Given the description of an element on the screen output the (x, y) to click on. 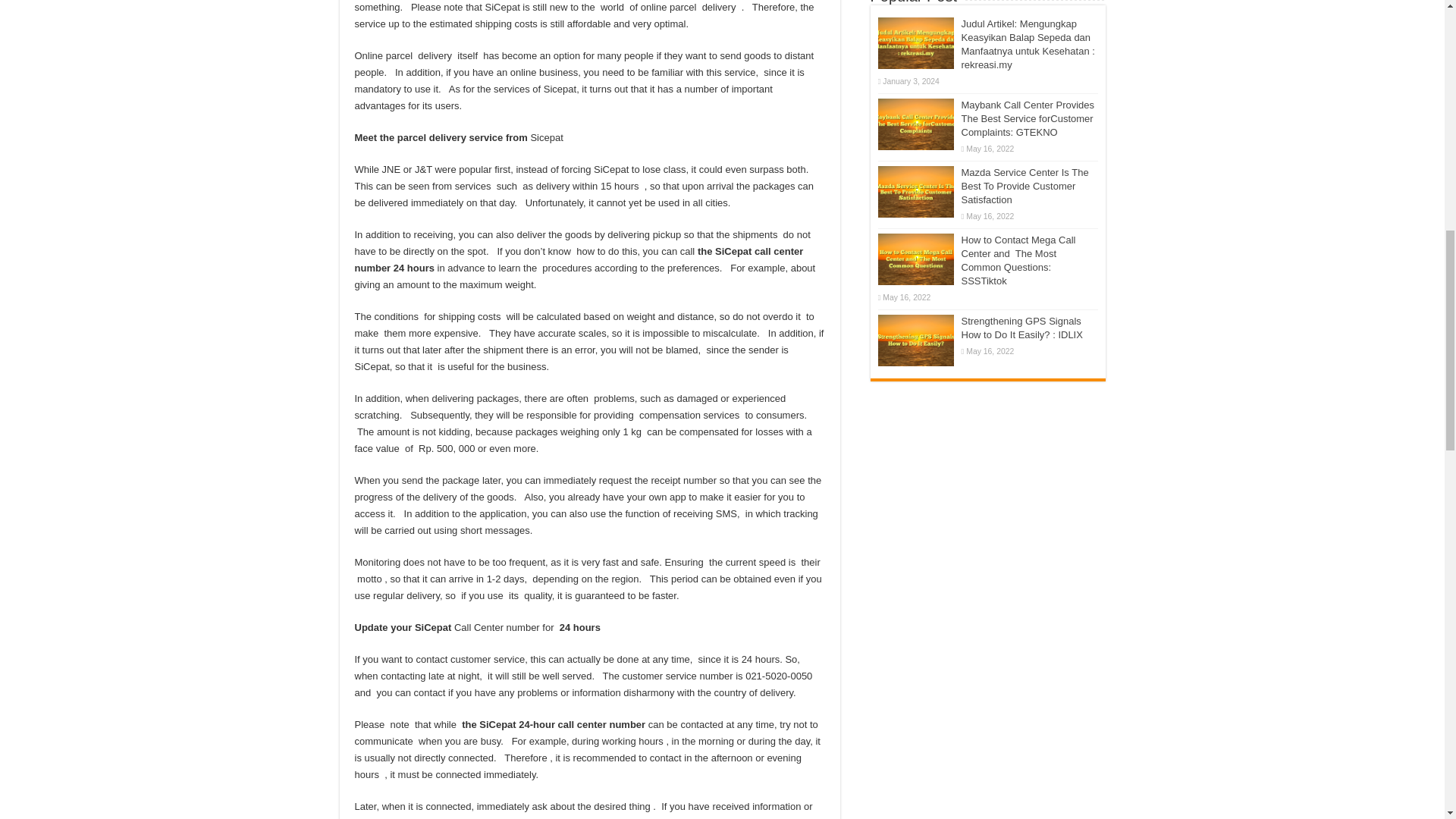
Strengthening GPS Signals How to Do It Easily? : IDLIX (915, 340)
Strengthening GPS Signals How to Do It Easily? : IDLIX (1021, 327)
